Given the description of an element on the screen output the (x, y) to click on. 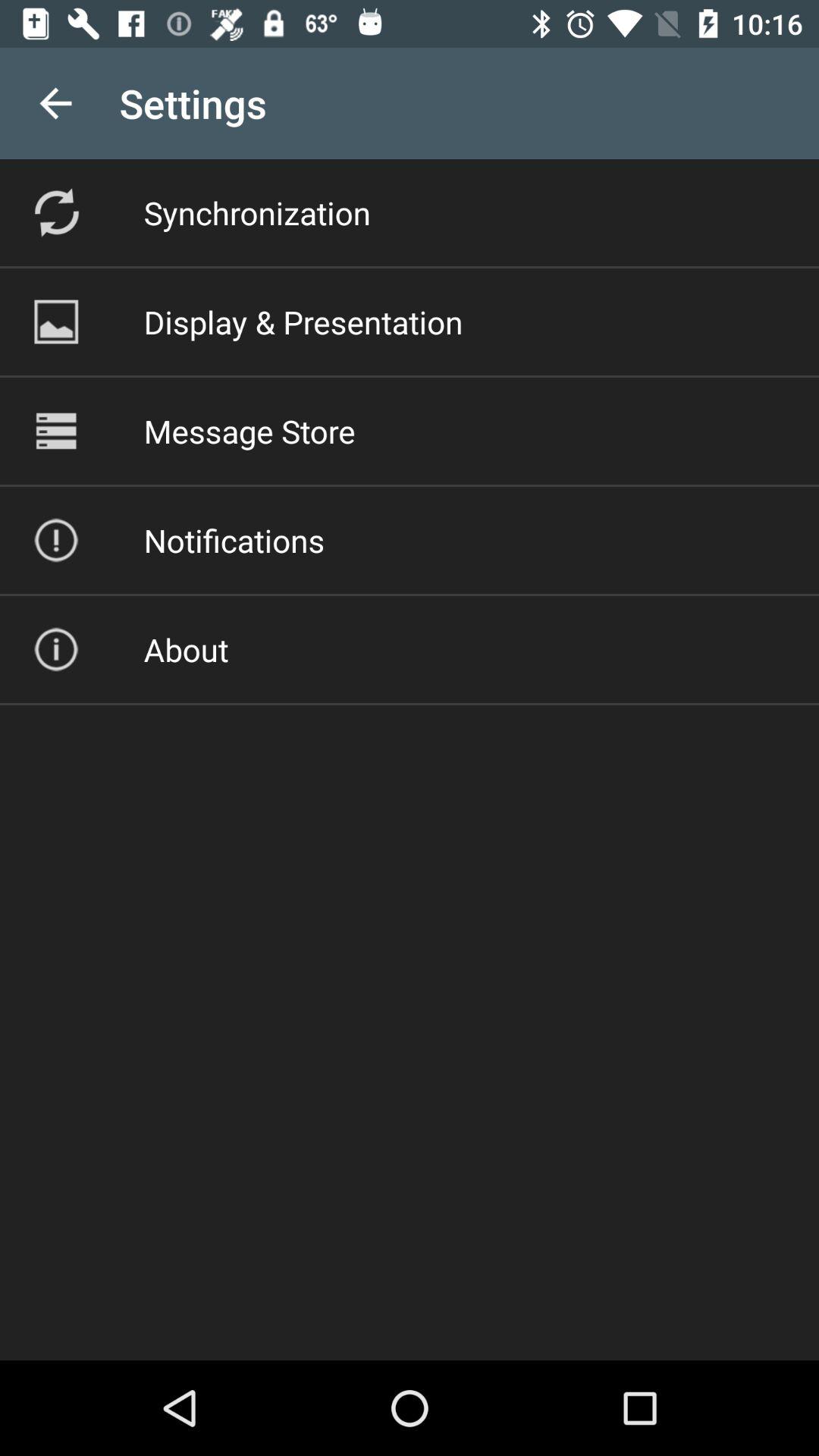
launch the synchronization (256, 212)
